Given the description of an element on the screen output the (x, y) to click on. 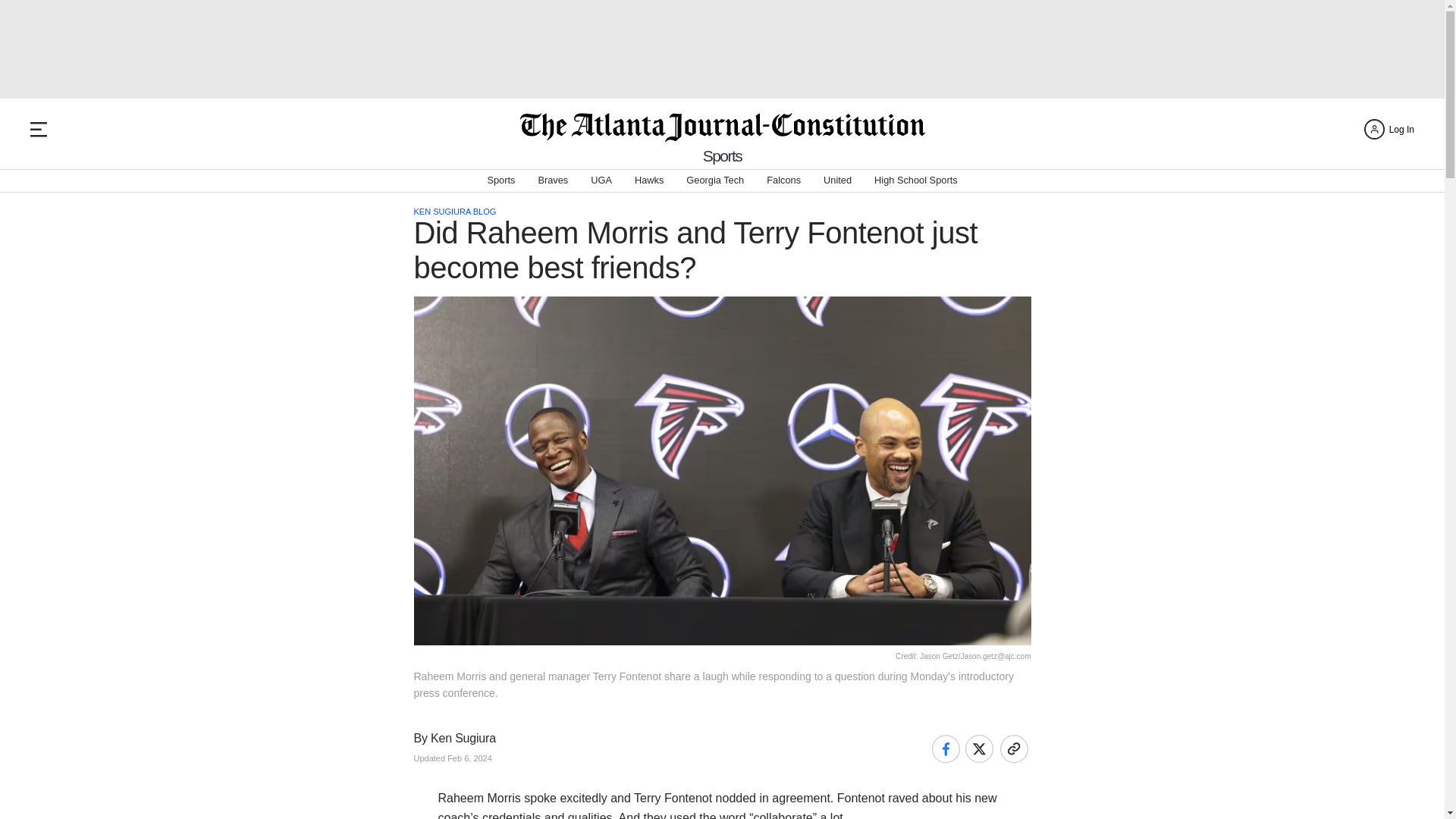
UGA (601, 180)
Sports (500, 180)
Sports (722, 155)
Braves (552, 180)
Hawks (648, 180)
Georgia Tech (714, 180)
High School Sports (916, 180)
Falcons (783, 180)
United (837, 180)
